Given the description of an element on the screen output the (x, y) to click on. 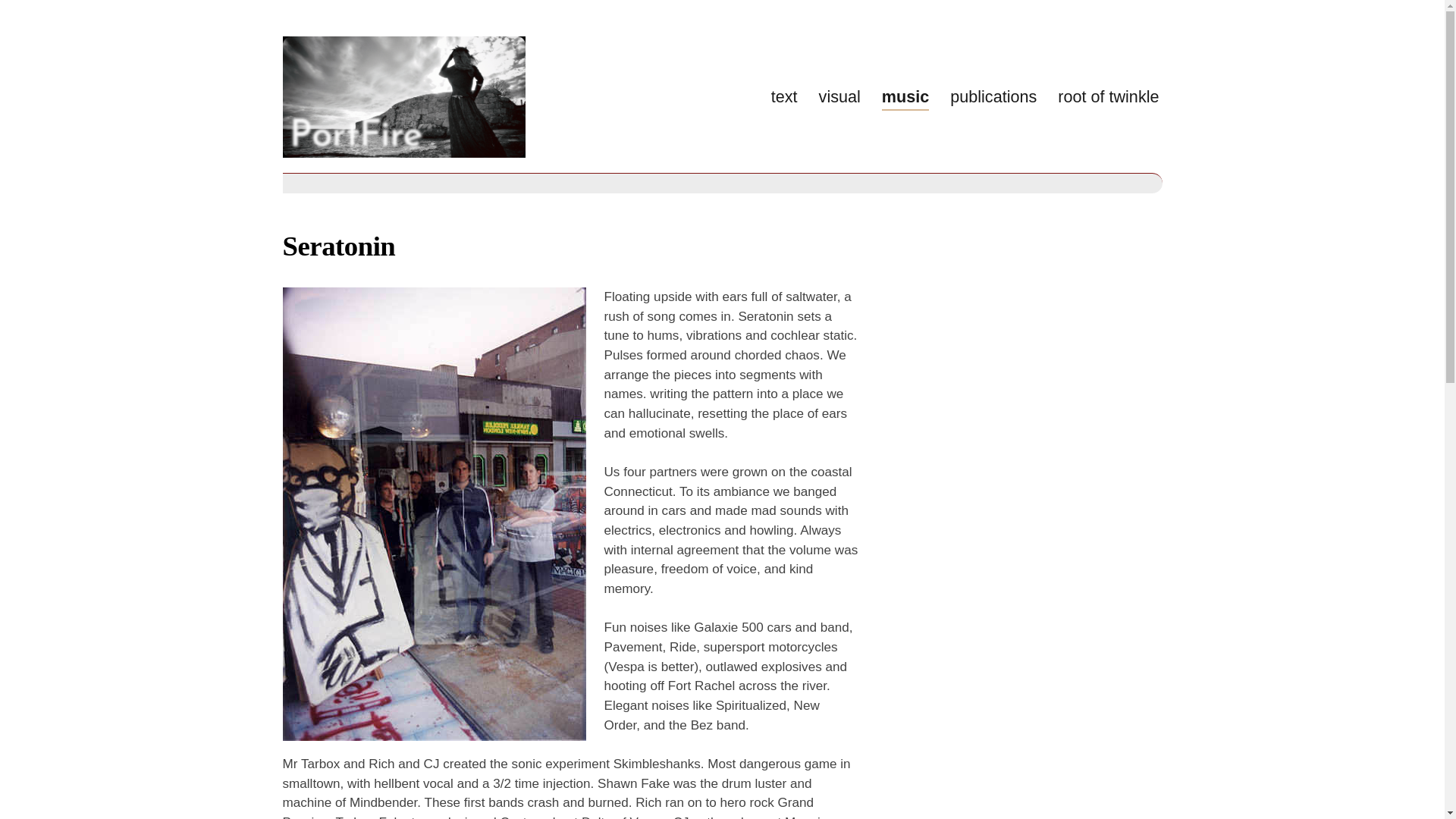
visual (839, 96)
text (784, 96)
publications (993, 96)
Select a Publication (993, 96)
music (905, 96)
Display All Visual Posts (839, 96)
Display All Music Posts or Select a Band (905, 96)
ROOT! (1108, 96)
Display All Text Posts (784, 96)
